Given the description of an element on the screen output the (x, y) to click on. 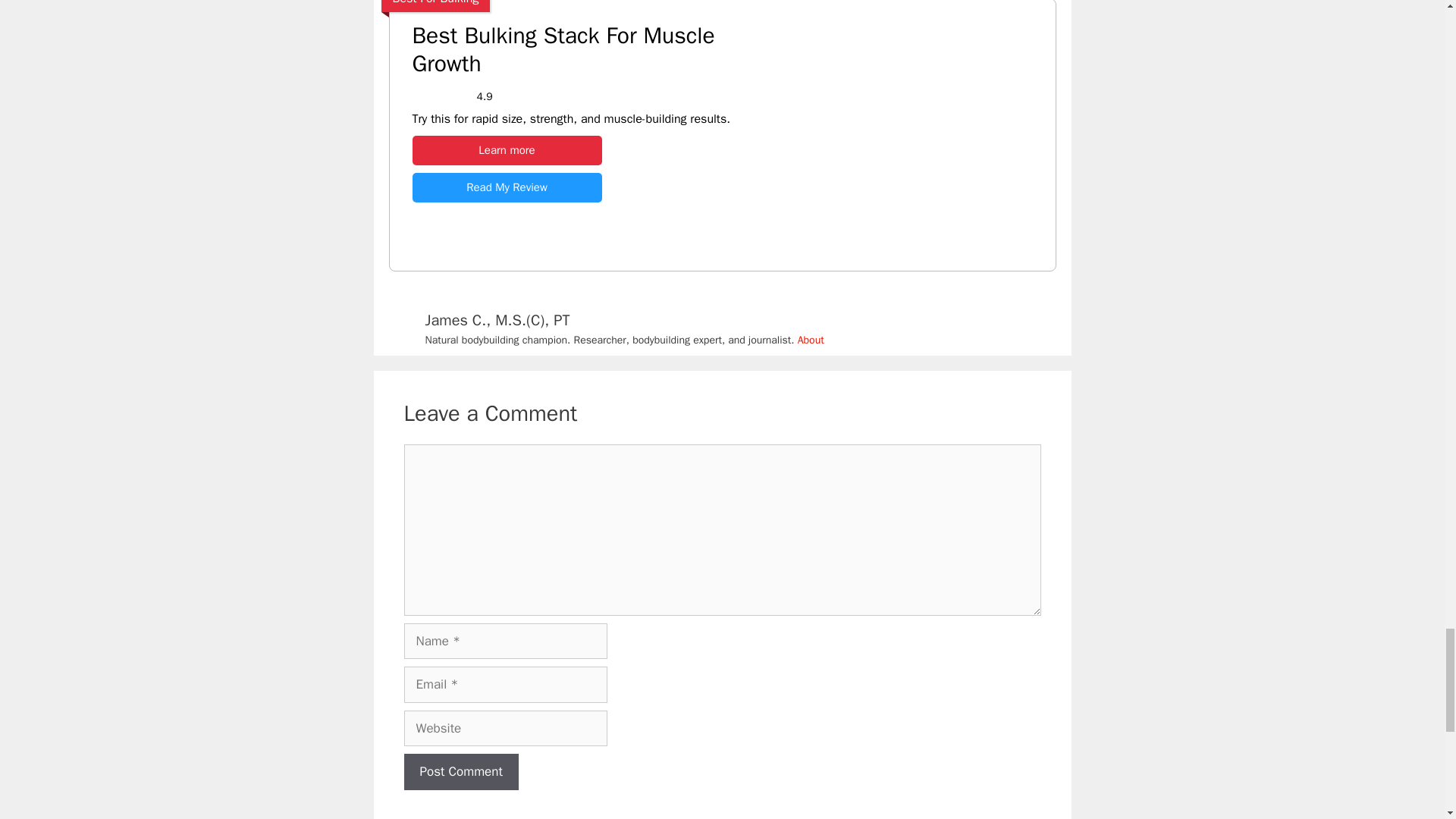
Post Comment (460, 771)
